Given the description of an element on the screen output the (x, y) to click on. 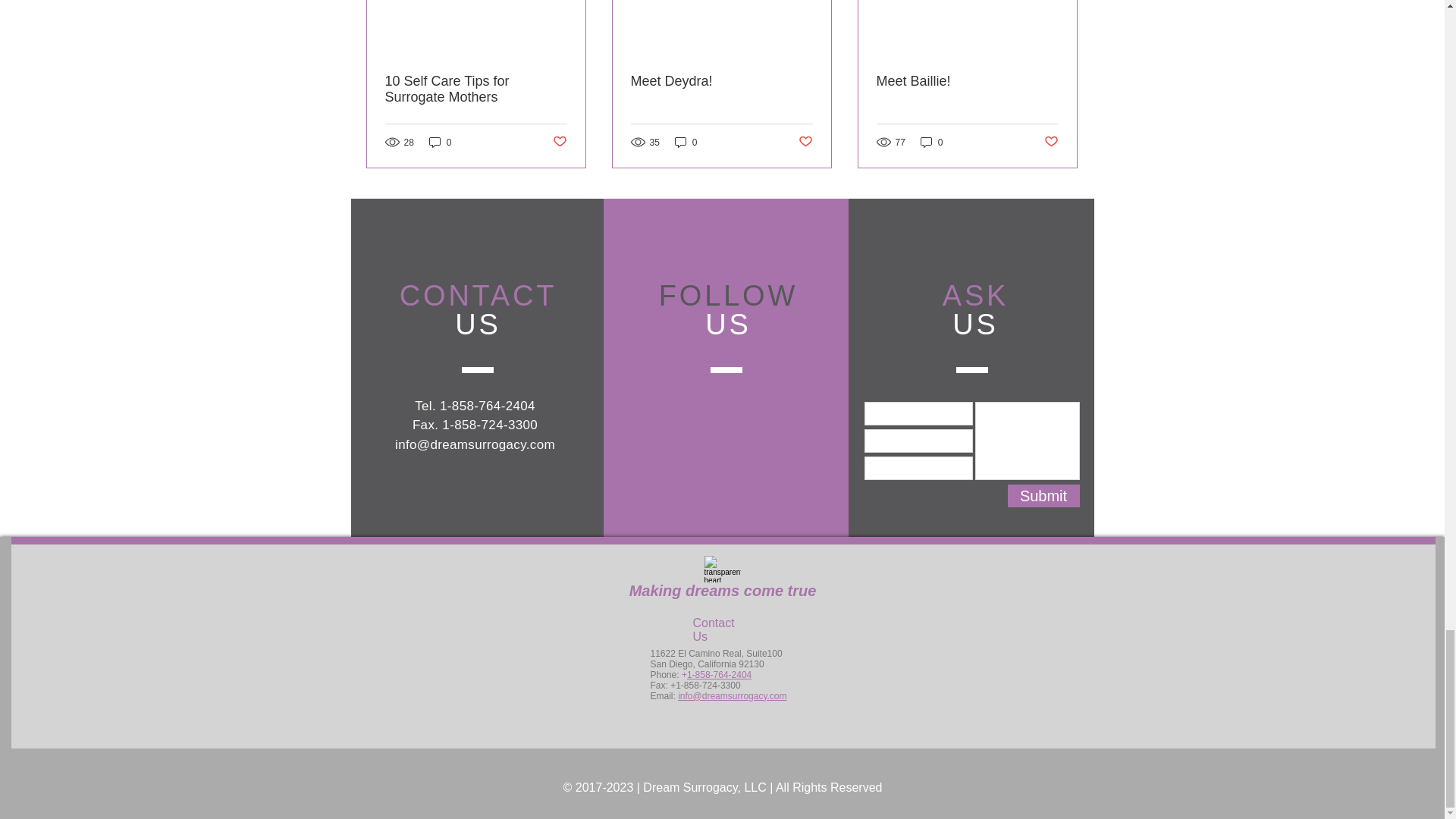
10 Self Care Tips for Surrogate Mothers (476, 89)
0 (685, 142)
Meet Deydra! (721, 81)
Post not marked as liked (804, 141)
Post not marked as liked (558, 141)
0 (440, 142)
